Given the description of an element on the screen output the (x, y) to click on. 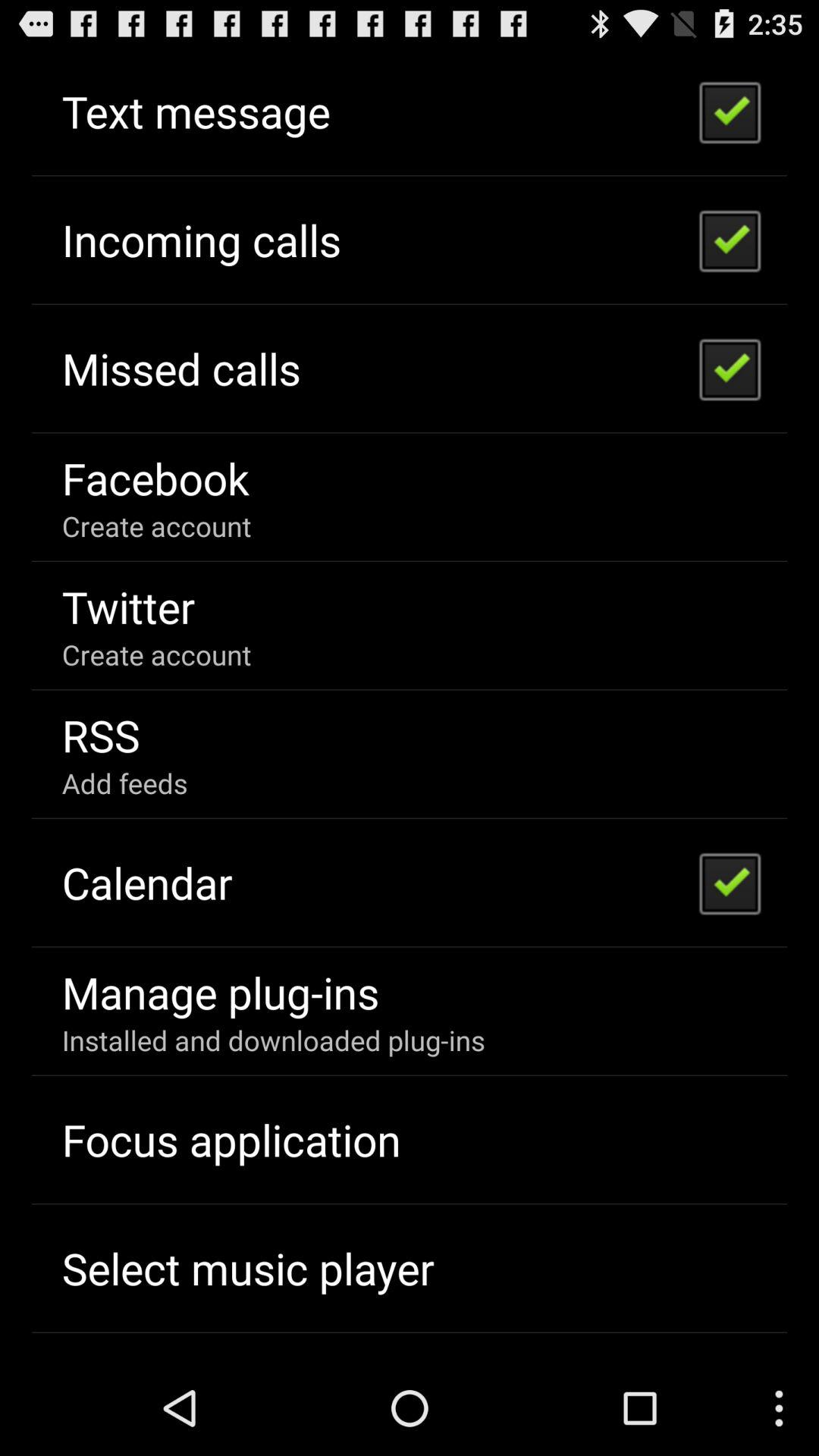
tap the item above the missed calls app (201, 239)
